Given the description of an element on the screen output the (x, y) to click on. 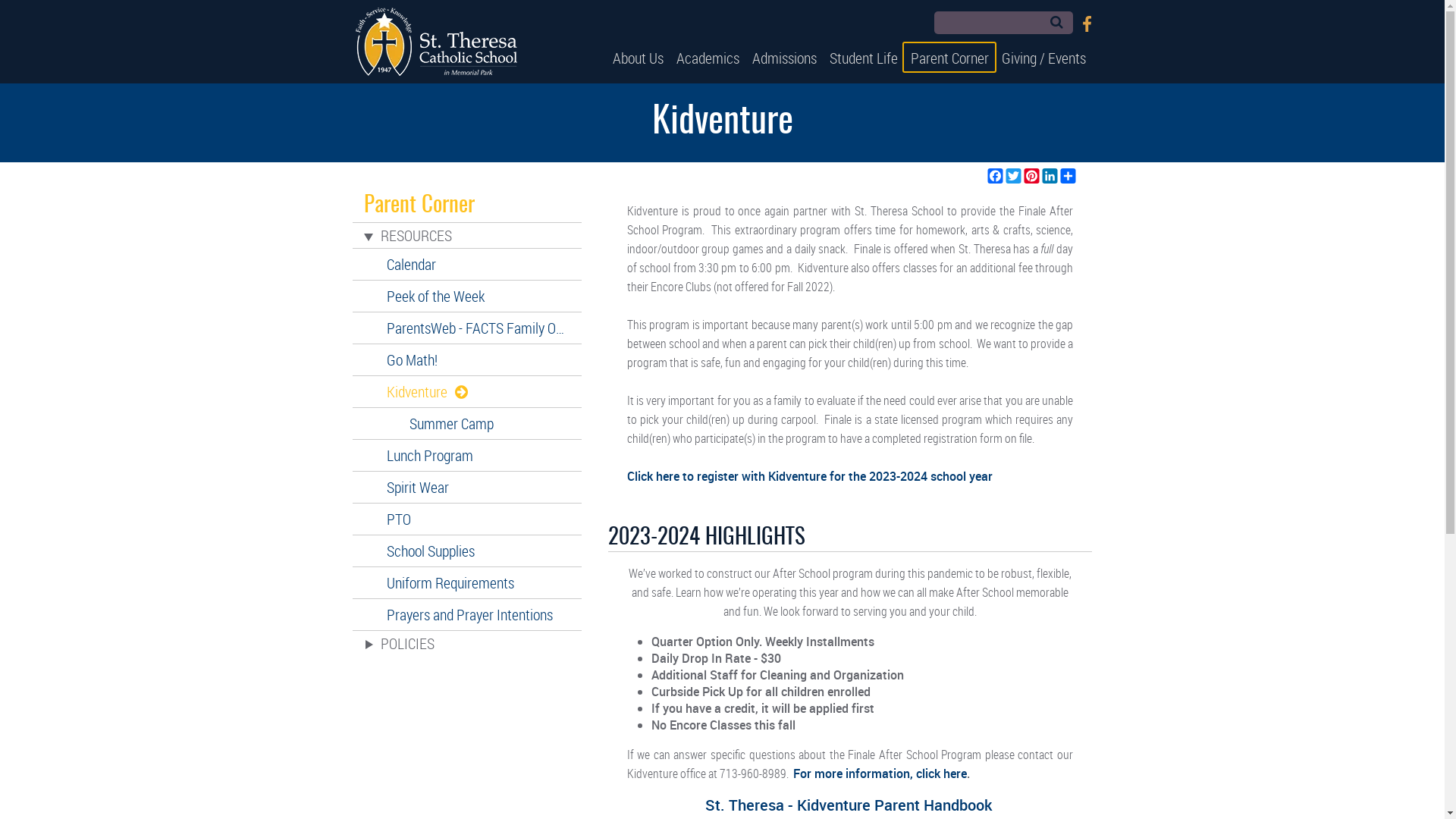
Pinterest Element type: text (1031, 175)
ParentsWeb - FACTS Family Online Element type: text (466, 327)
About Us Element type: text (638, 57)
LinkedIn Element type: text (1049, 175)
Lunch Program Element type: text (466, 454)
Student Life Element type: text (862, 57)
Twitter Element type: text (1013, 175)
Summer Camp Element type: text (466, 423)
For more information, click here Element type: text (879, 773)
Parent Corner Element type: text (466, 205)
School Supplies Element type: text (466, 550)
Calendar Element type: text (466, 263)
Spirit Wear Element type: text (466, 486)
Facebook Element type: text (994, 175)
St. Theresa - Kidventure Parent Handbook  Element type: text (849, 805)
Facebook Element type: text (1087, 23)
Giving / Events Element type: text (1043, 57)
Prayers and Prayer Intentions Element type: text (466, 614)
Share Element type: text (1067, 175)
PTO Element type: text (466, 518)
Parent Corner Element type: text (948, 57)
Admissions Element type: text (784, 57)
Peek of the Week Element type: text (466, 295)
Kidventure Element type: text (466, 391)
Academics Element type: text (708, 57)
Go Math! Element type: text (466, 359)
Uniform Requirements Element type: text (466, 582)
